Given the description of an element on the screen output the (x, y) to click on. 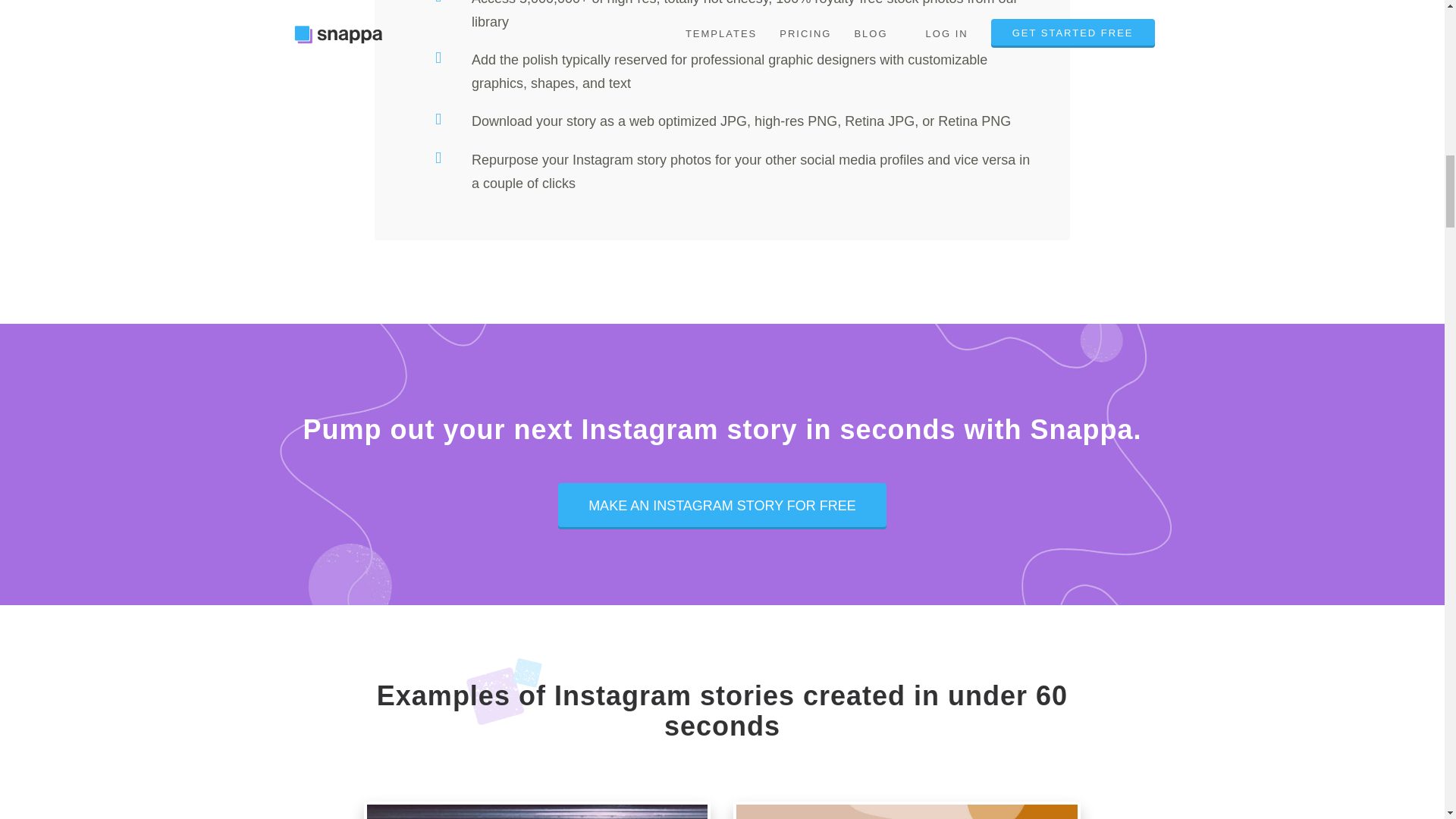
MAKE AN INSTAGRAM STORY FOR FREE (721, 506)
